Given the description of an element on the screen output the (x, y) to click on. 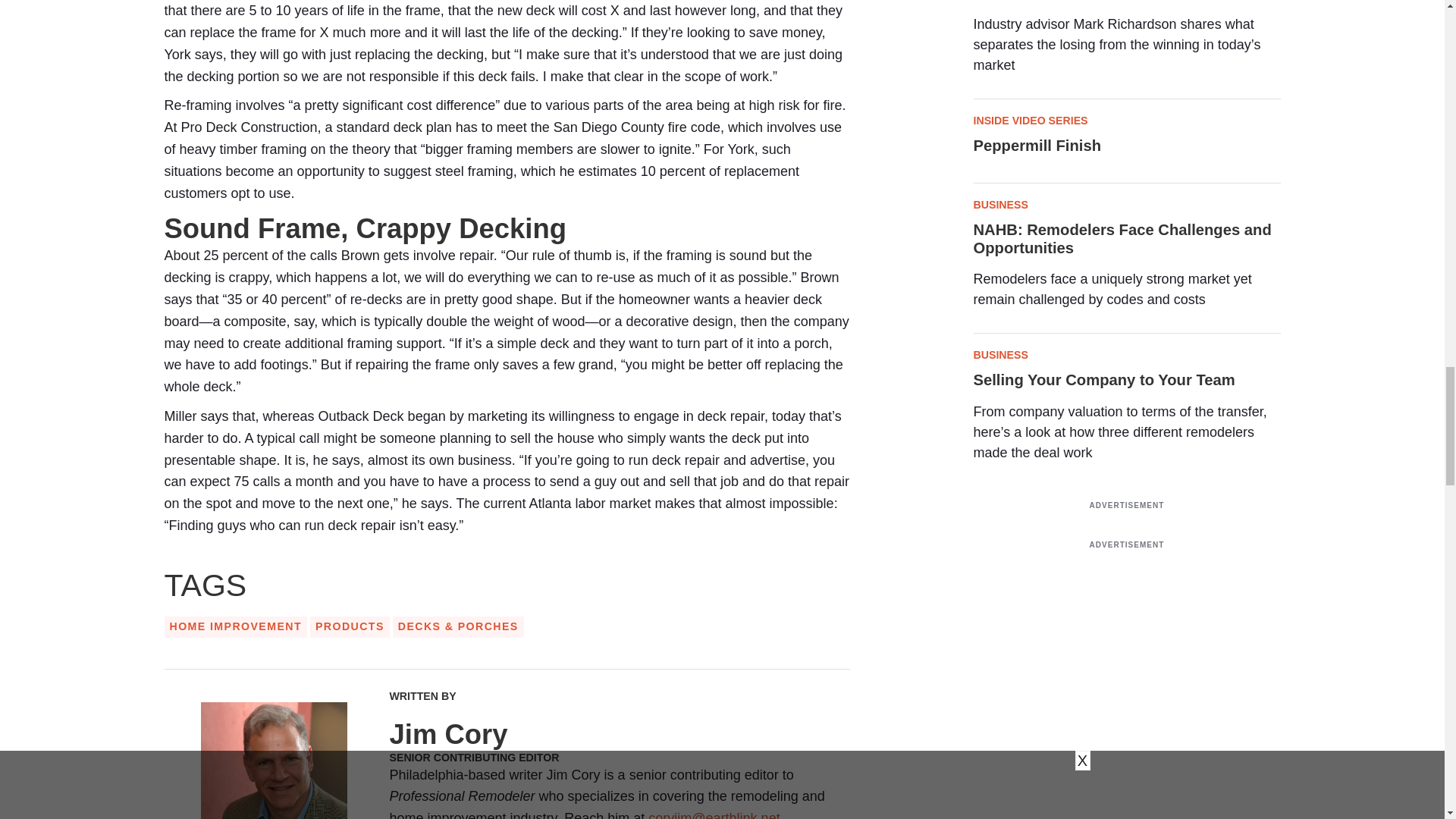
3rd party ad content (1126, 692)
